Given the description of an element on the screen output the (x, y) to click on. 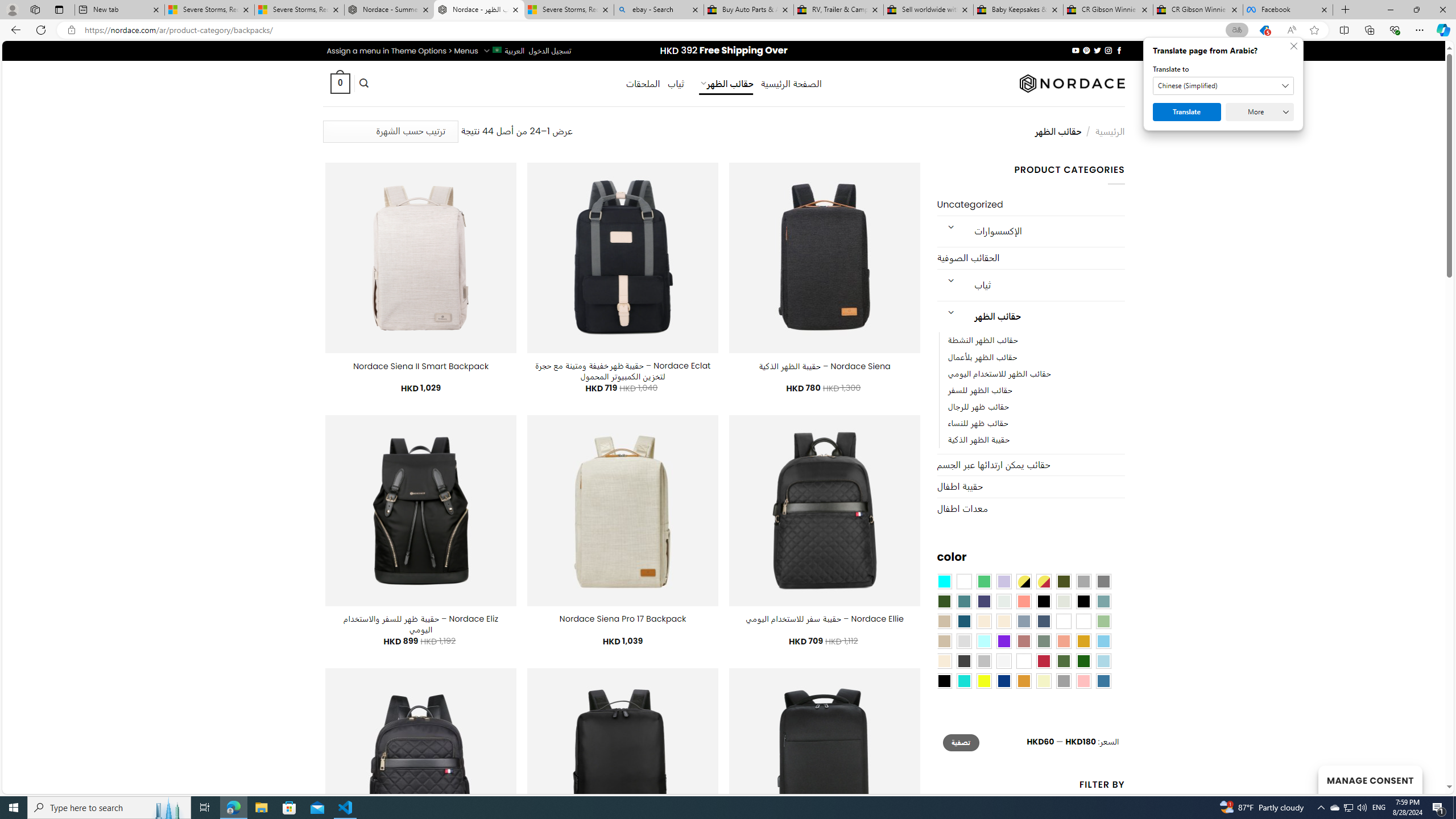
Capri Blue (963, 621)
Clear (963, 581)
Mint (983, 640)
Yellow-Black (1023, 581)
Assign a menu in Theme Options > Menus (402, 50)
